Given the description of an element on the screen output the (x, y) to click on. 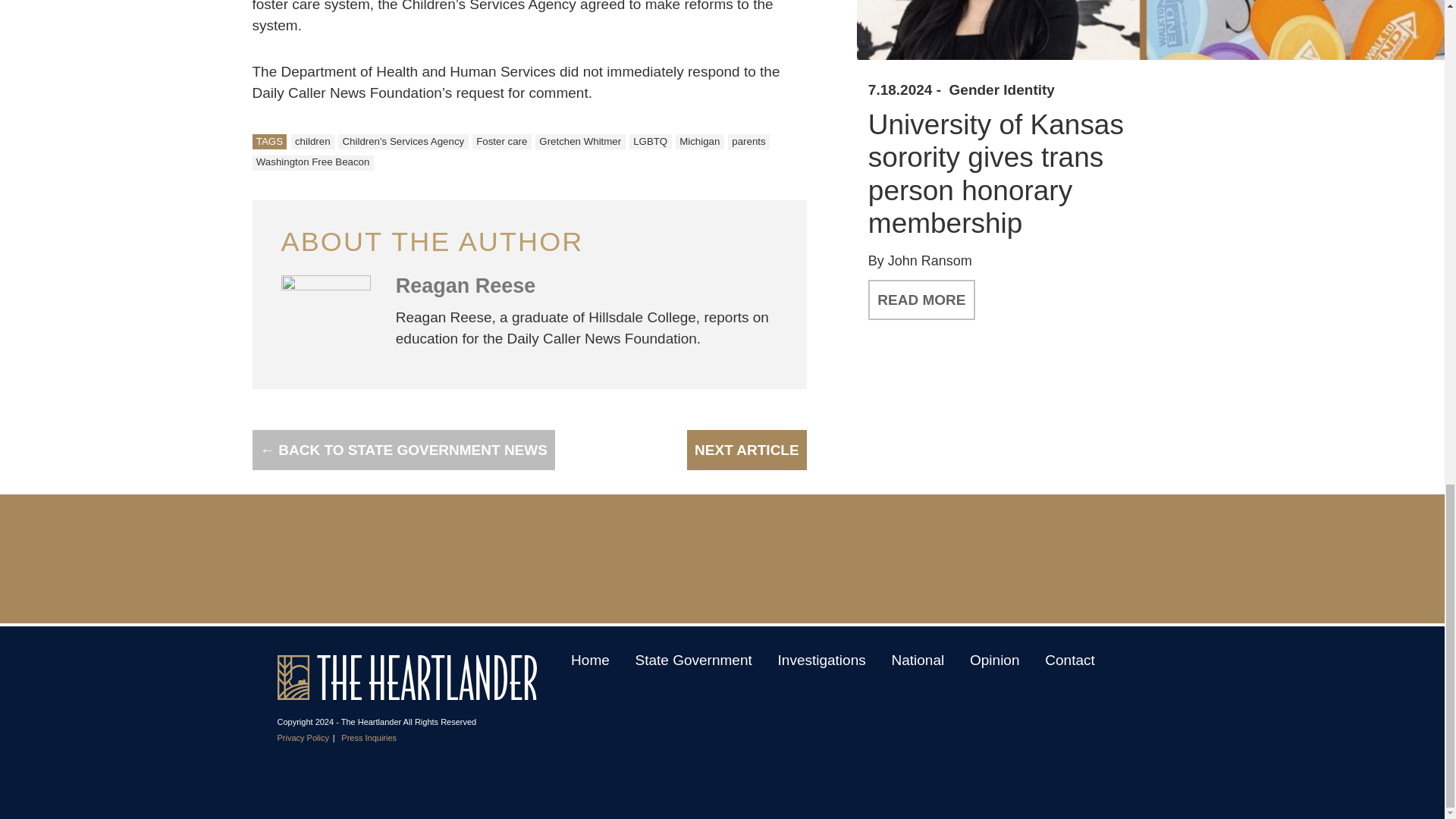
children (312, 141)
parents (749, 141)
John Ransom (930, 260)
NEXT ARTICLE (746, 449)
READ MORE (921, 300)
Children's Services Agency (402, 141)
Gretchen Whitmer (580, 141)
Reagan Reese (465, 285)
Gender Identity (1001, 90)
Foster care (501, 141)
Michigan (699, 141)
Washington Free Beacon (311, 162)
LGBTQ (649, 141)
